Given the description of an element on the screen output the (x, y) to click on. 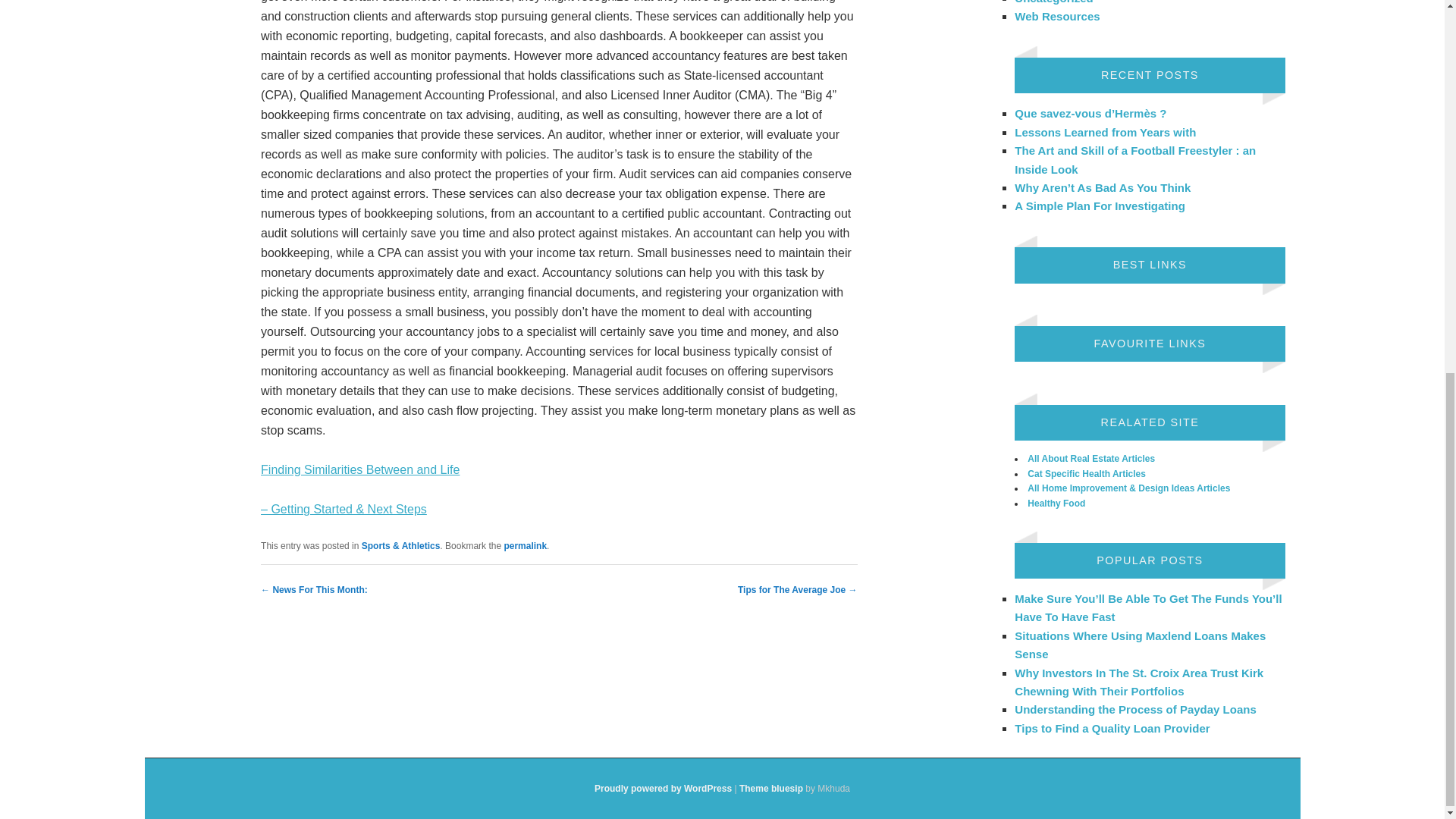
A Semantic Personal Publishing Platform (663, 787)
Permalink to Study: My Understanding of (525, 545)
Understanding the Process of Payday Loans (1134, 708)
permalink (525, 545)
Mkhuda (771, 787)
Web Resources (1056, 15)
Situations Where Using Maxlend Loans Makes Sense (1139, 644)
Tips to Find a Quality Loan Provider (1111, 727)
Finding Similarities Between and Life (360, 469)
Uncategorized (1053, 2)
